Given the description of an element on the screen output the (x, y) to click on. 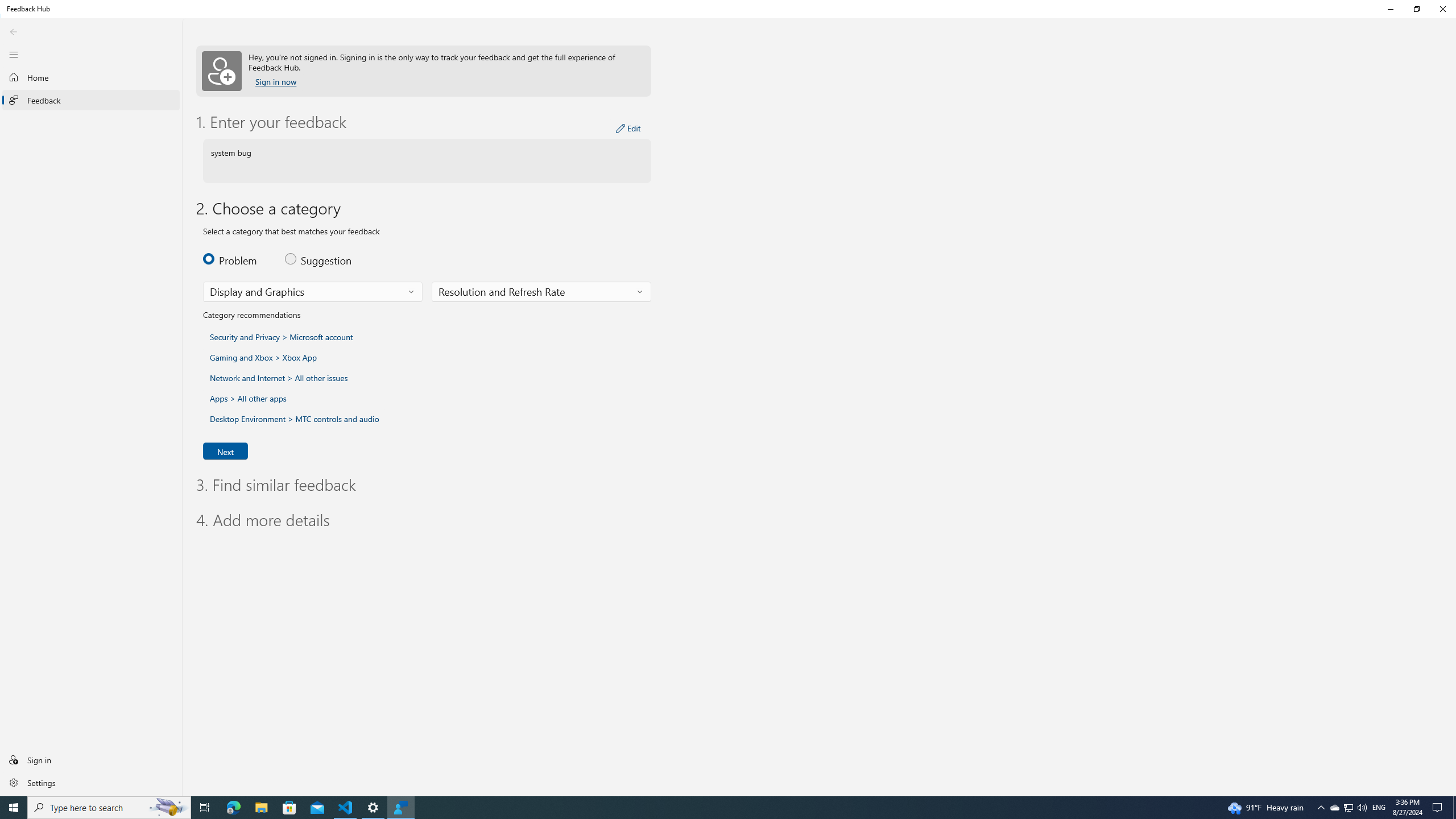
Start (13, 807)
Back (13, 31)
Resolution and Refresh Rate (501, 291)
Vertical Large Increase (1452, 420)
Vertical Small Decrease (1452, 49)
Microsoft Edge (233, 807)
File Explorer (261, 807)
Vertical (1452, 420)
User Promoted Notification Area (1347, 807)
Sign in (90, 759)
Running applications (706, 807)
Sign in now (276, 81)
